Given the description of an element on the screen output the (x, y) to click on. 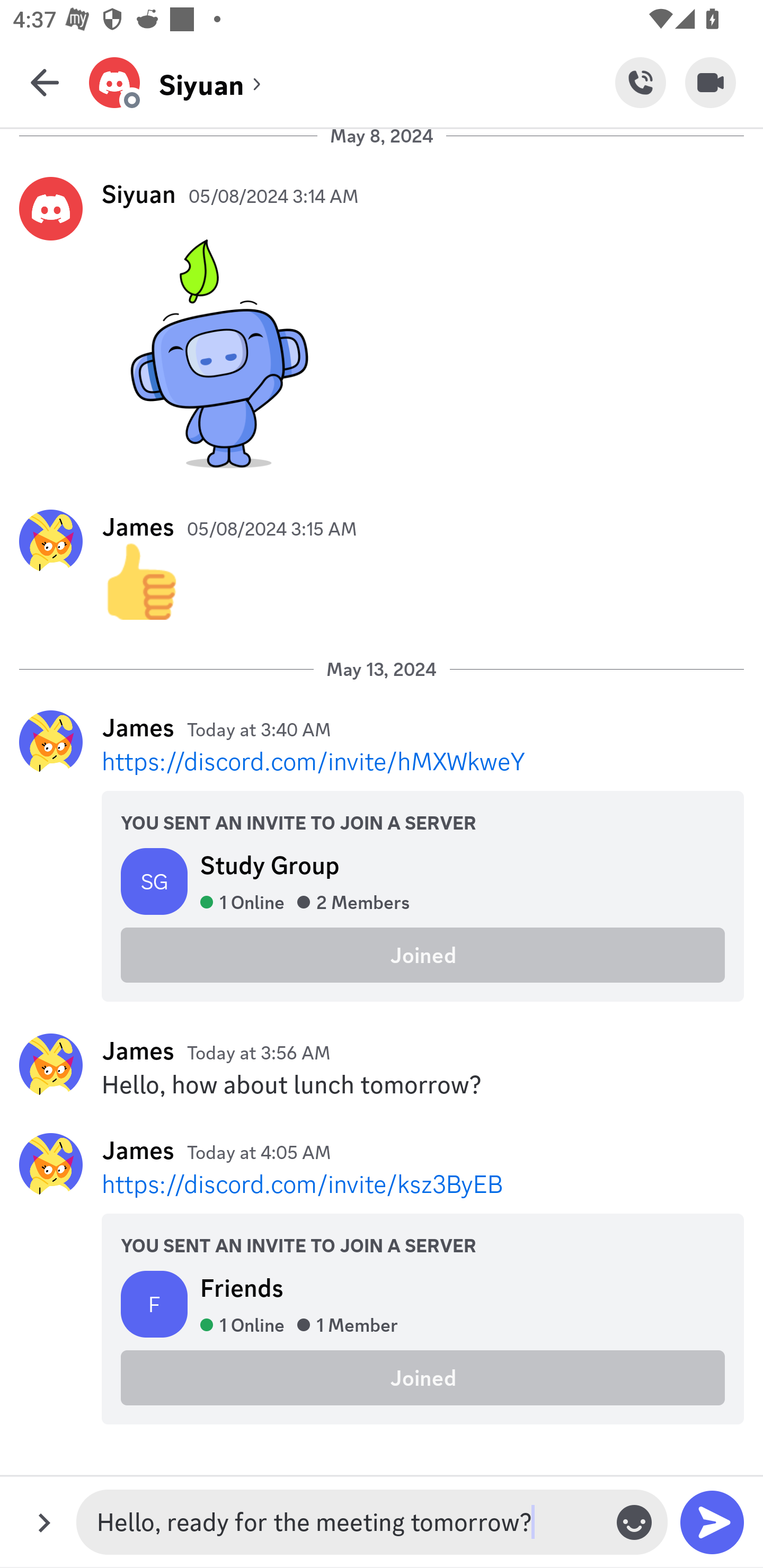
Siyuan (channel) Siyuan Siyuan (channel) (351, 82)
Back (44, 82)
Start Voice Call (640, 82)
Start Video Call (710, 82)
Siyuan 05/08/2024 3:14 AM (381, 327)
Siyuan (138, 193)
James (137, 526)
James (137, 727)
Joined (422, 955)
James (137, 1050)
James (137, 1149)
